Given the description of an element on the screen output the (x, y) to click on. 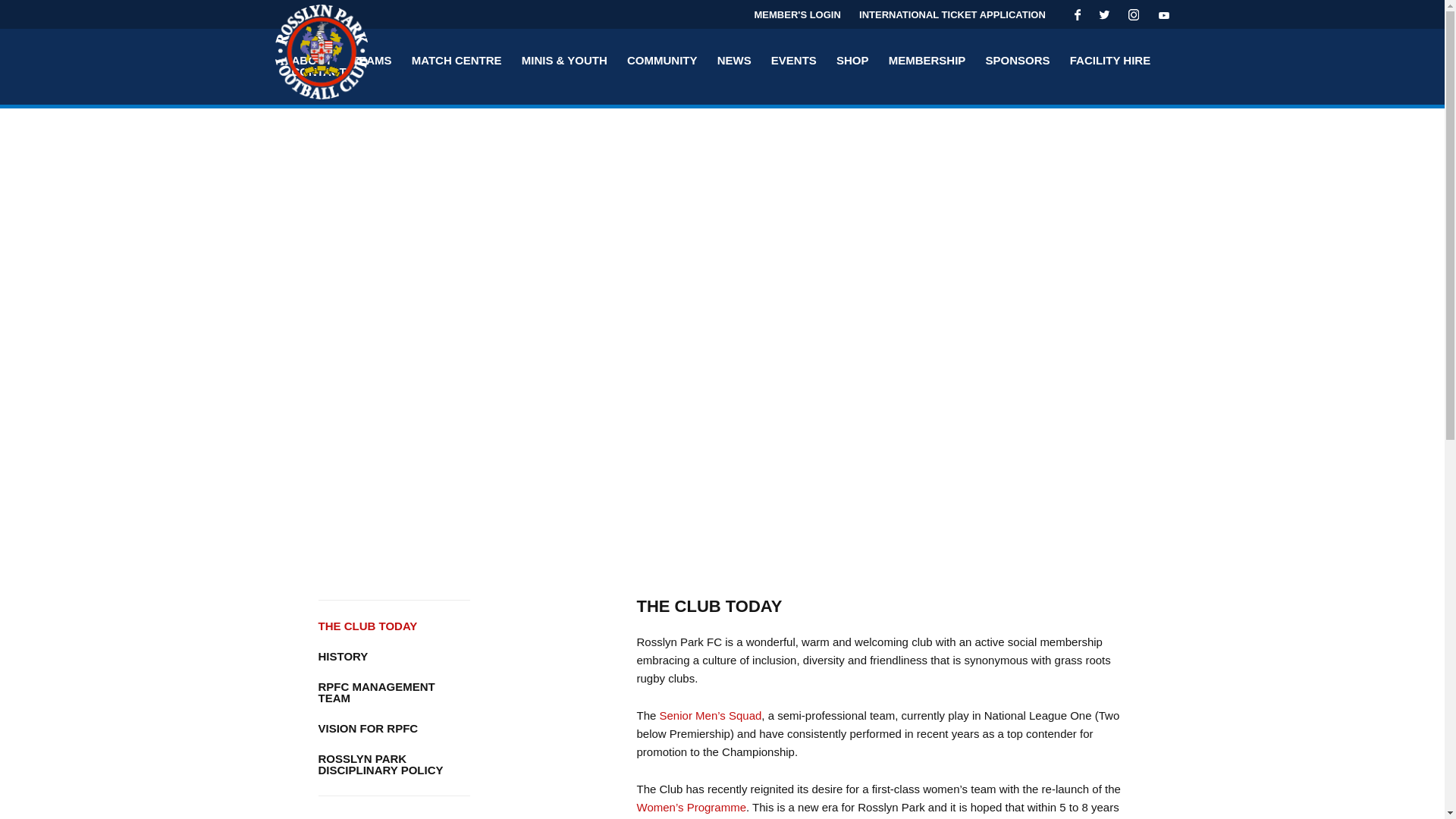
NEWS (734, 60)
SHOP (852, 60)
INTERNATIONAL TICKET APPLICATION (952, 14)
MEMBER'S LOGIN (797, 14)
SPONSORS (1017, 60)
MATCH CENTRE (457, 60)
TEAMS (371, 60)
MEMBERSHIP (927, 60)
CONTACT (318, 71)
EVENTS (793, 60)
